Given the description of an element on the screen output the (x, y) to click on. 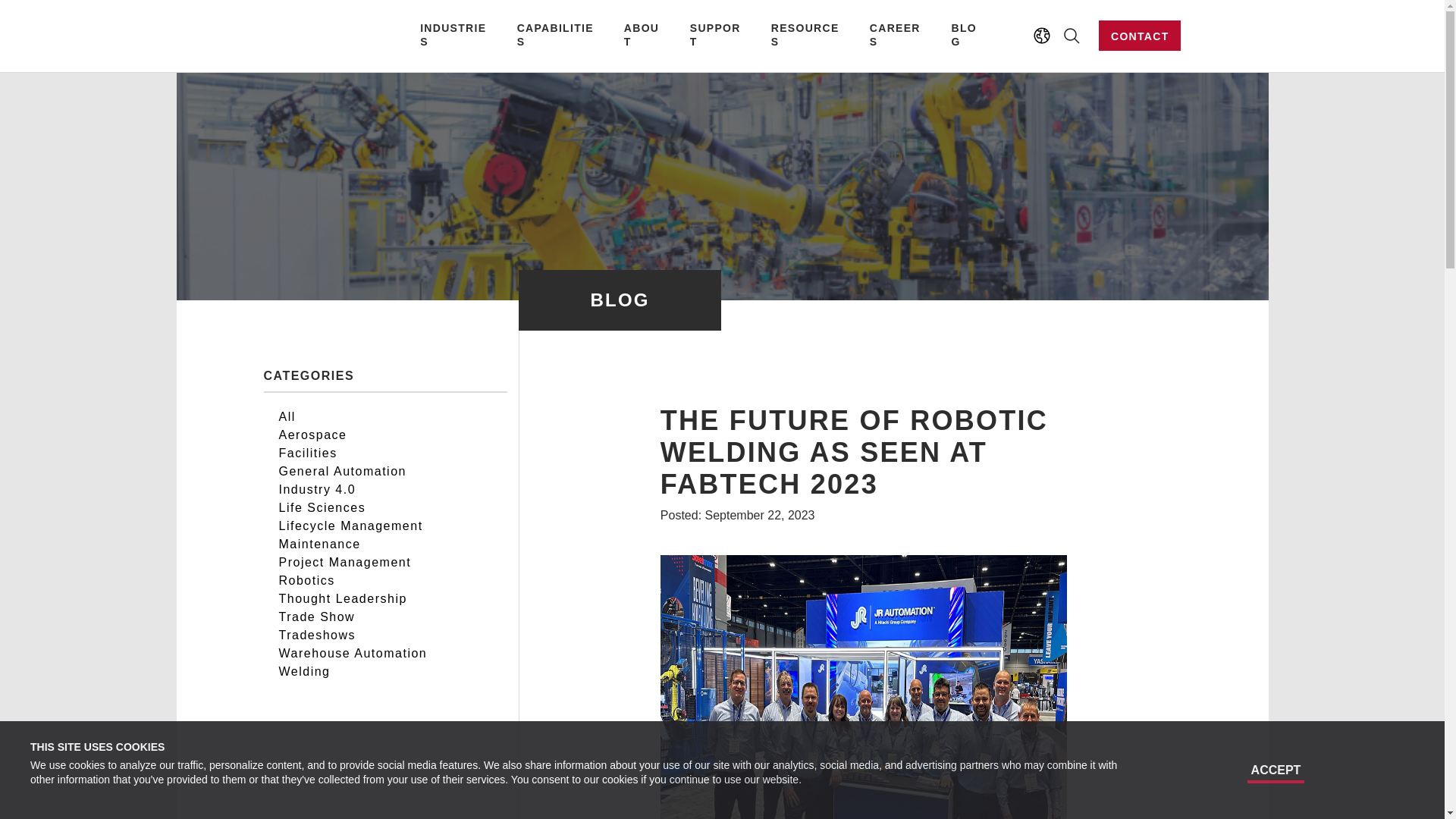
ACCEPT (1275, 771)
RESOURCES (808, 35)
INDUSTRIES (456, 35)
CAPABILITIES (557, 35)
